Given the description of an element on the screen output the (x, y) to click on. 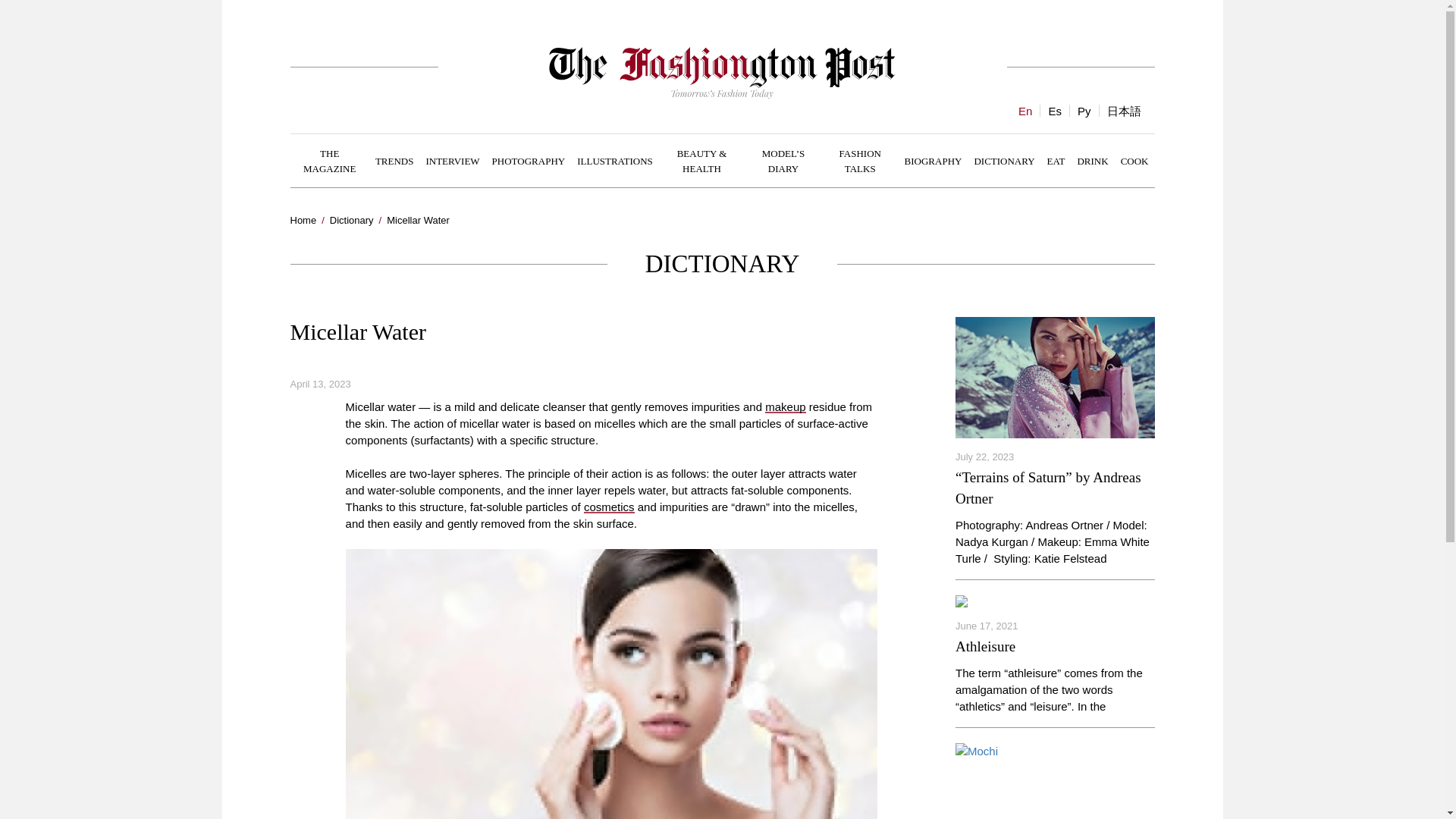
FASHION TALKS (860, 160)
cosmetics (608, 506)
PHOTOGRAPHY (529, 160)
DICTIONARY (1004, 160)
ILLUSTRATIONS (614, 160)
Dictionary (352, 220)
COOK (1134, 160)
TRENDS (394, 160)
En (1024, 110)
